Given the description of an element on the screen output the (x, y) to click on. 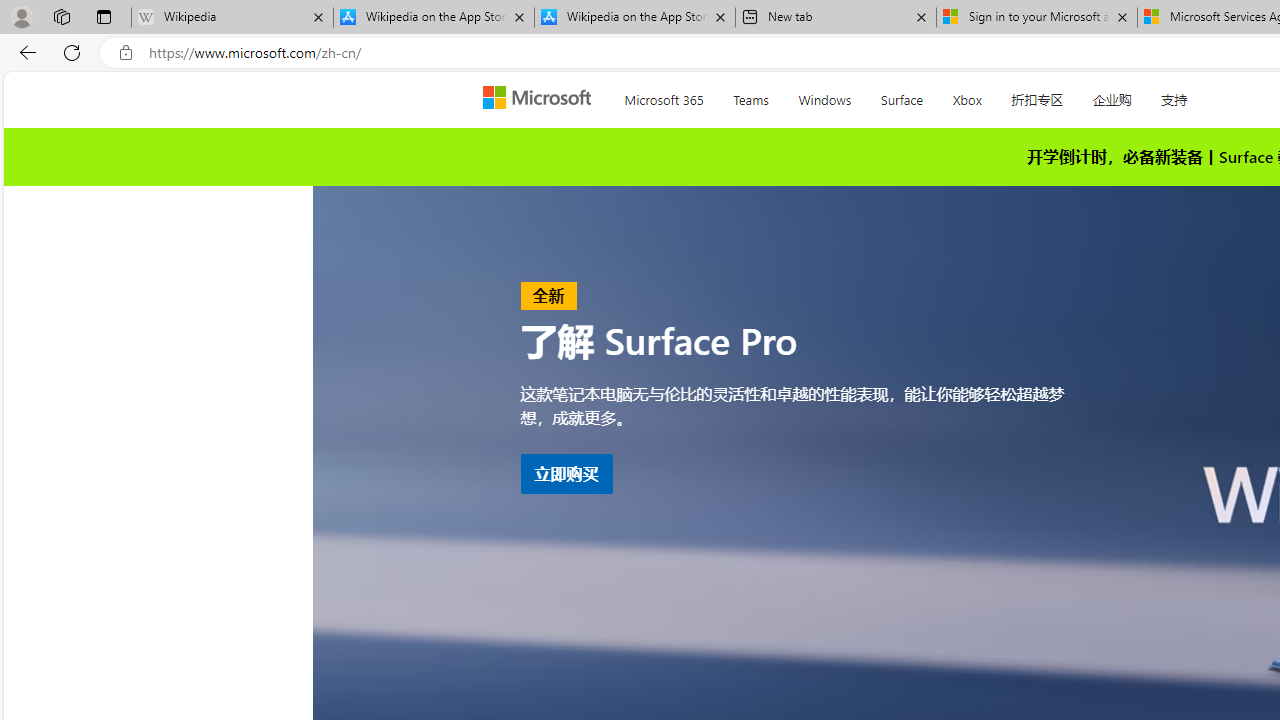
Windows (824, 96)
Teams (750, 96)
Surface (901, 96)
New tab (835, 17)
Sign in to your Microsoft account (1036, 17)
Microsoft (541, 99)
